Given the description of an element on the screen output the (x, y) to click on. 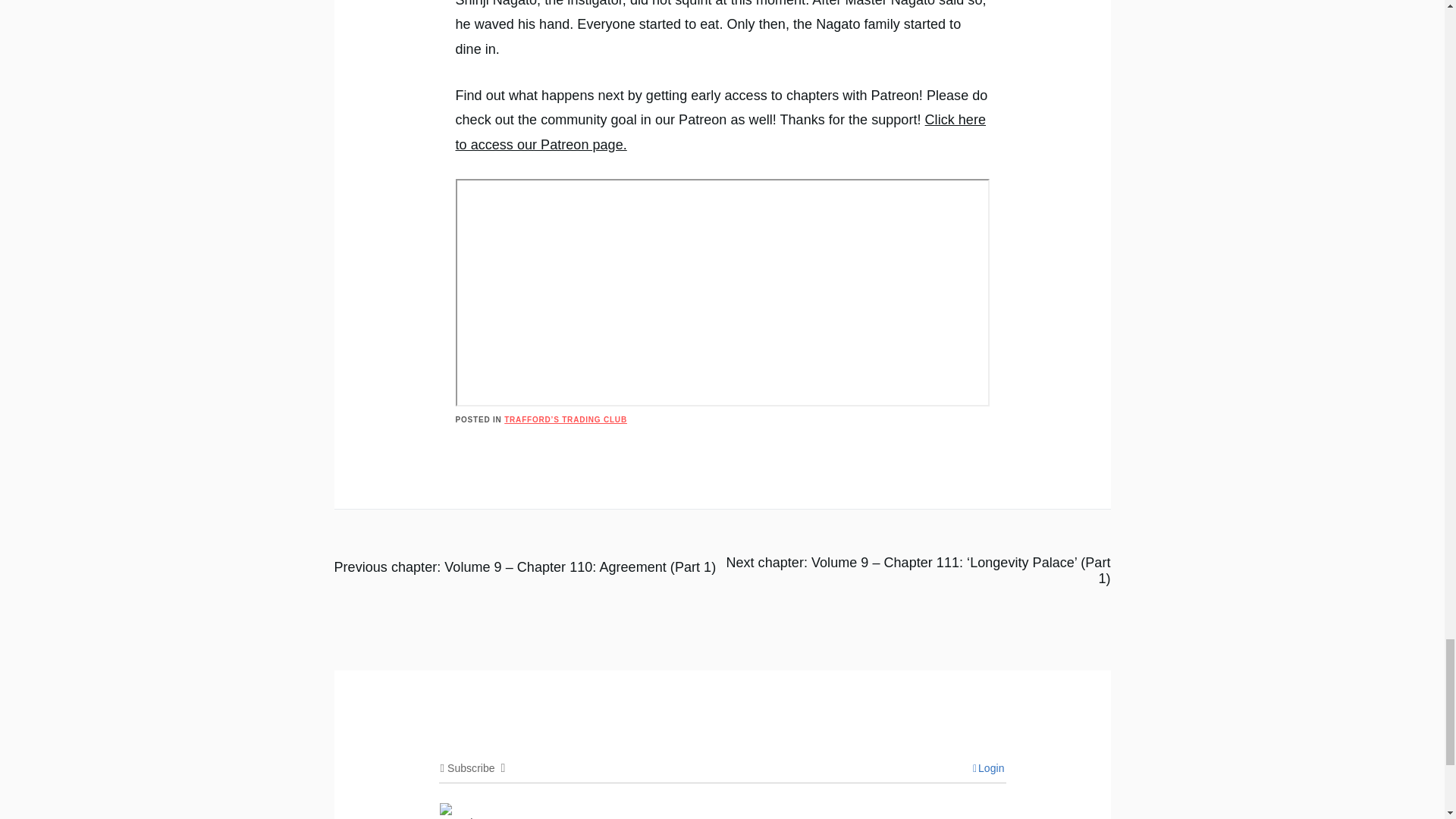
Click here to access our Patreon page. (719, 131)
Login (988, 767)
